Given the description of an element on the screen output the (x, y) to click on. 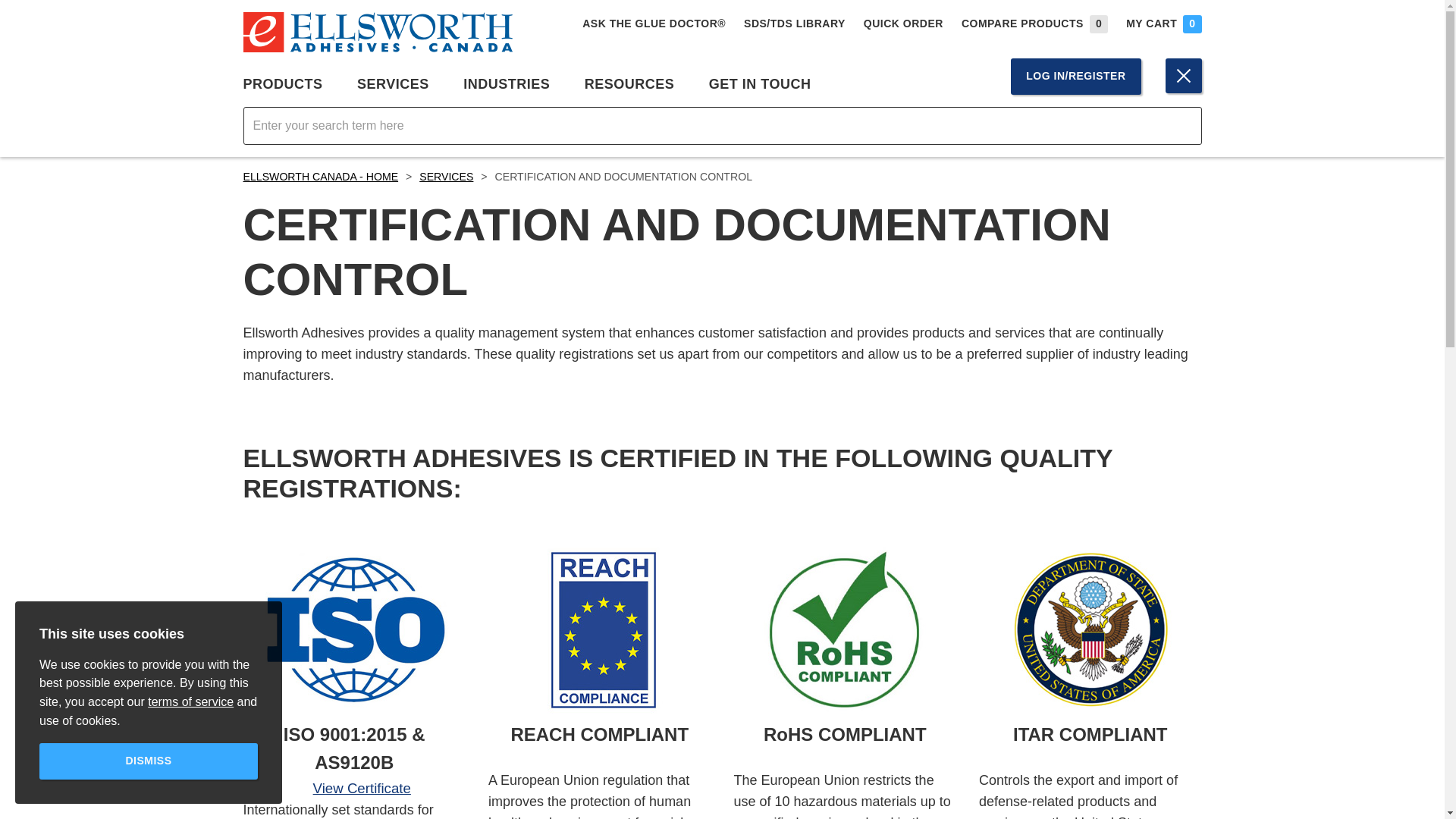
MY CART0 (1163, 23)
SERVICES (400, 85)
COMPARE PRODUCTS0 (1034, 23)
QUICK ORDER (903, 23)
PRODUCTS (291, 85)
INDUSTRIES (514, 85)
